Given the description of an element on the screen output the (x, y) to click on. 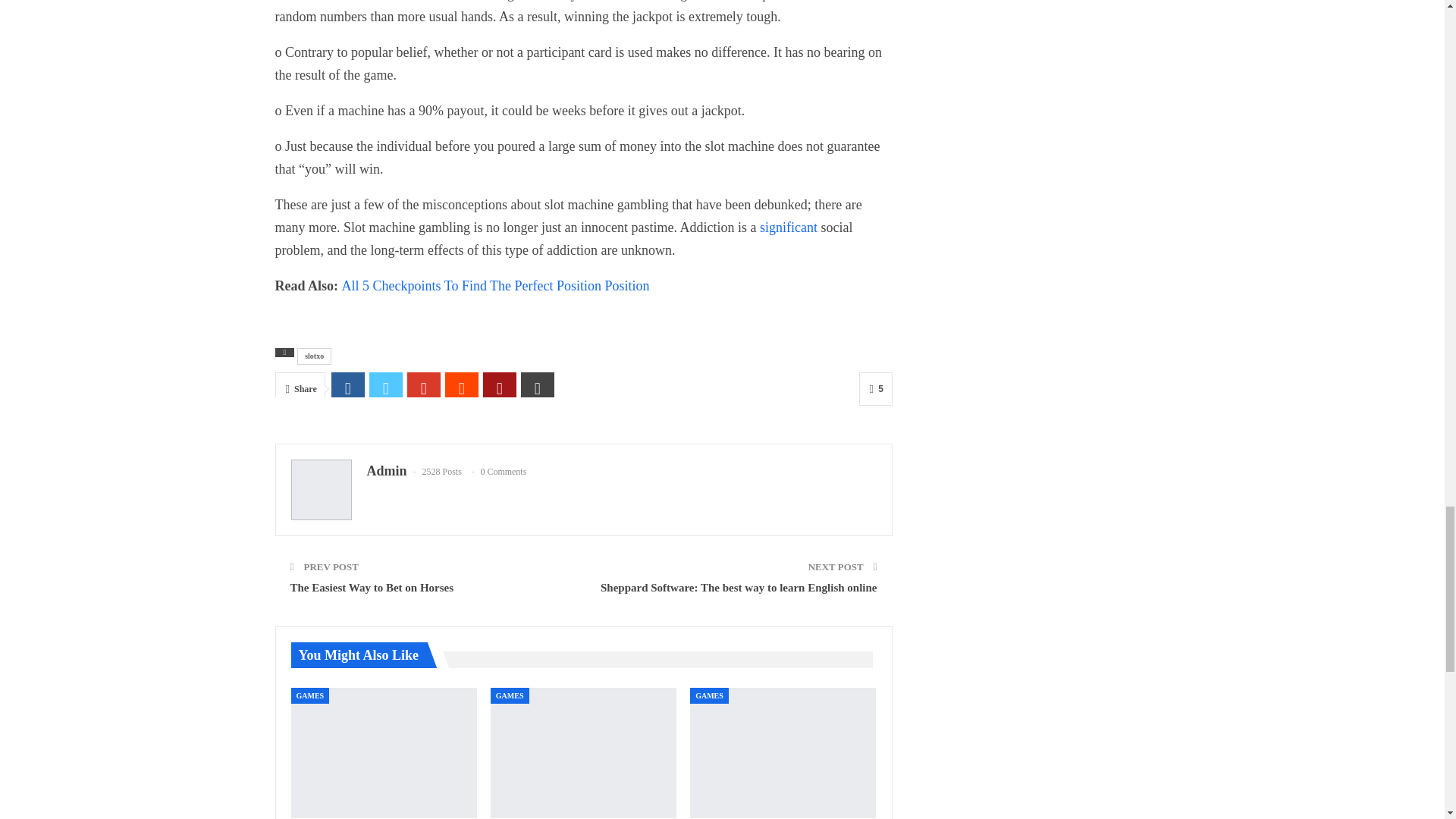
How can you claim bonuses on QQDewa? (384, 752)
The Ultimate Guide to QQDewa Betting Games (783, 752)
